Given the description of an element on the screen output the (x, y) to click on. 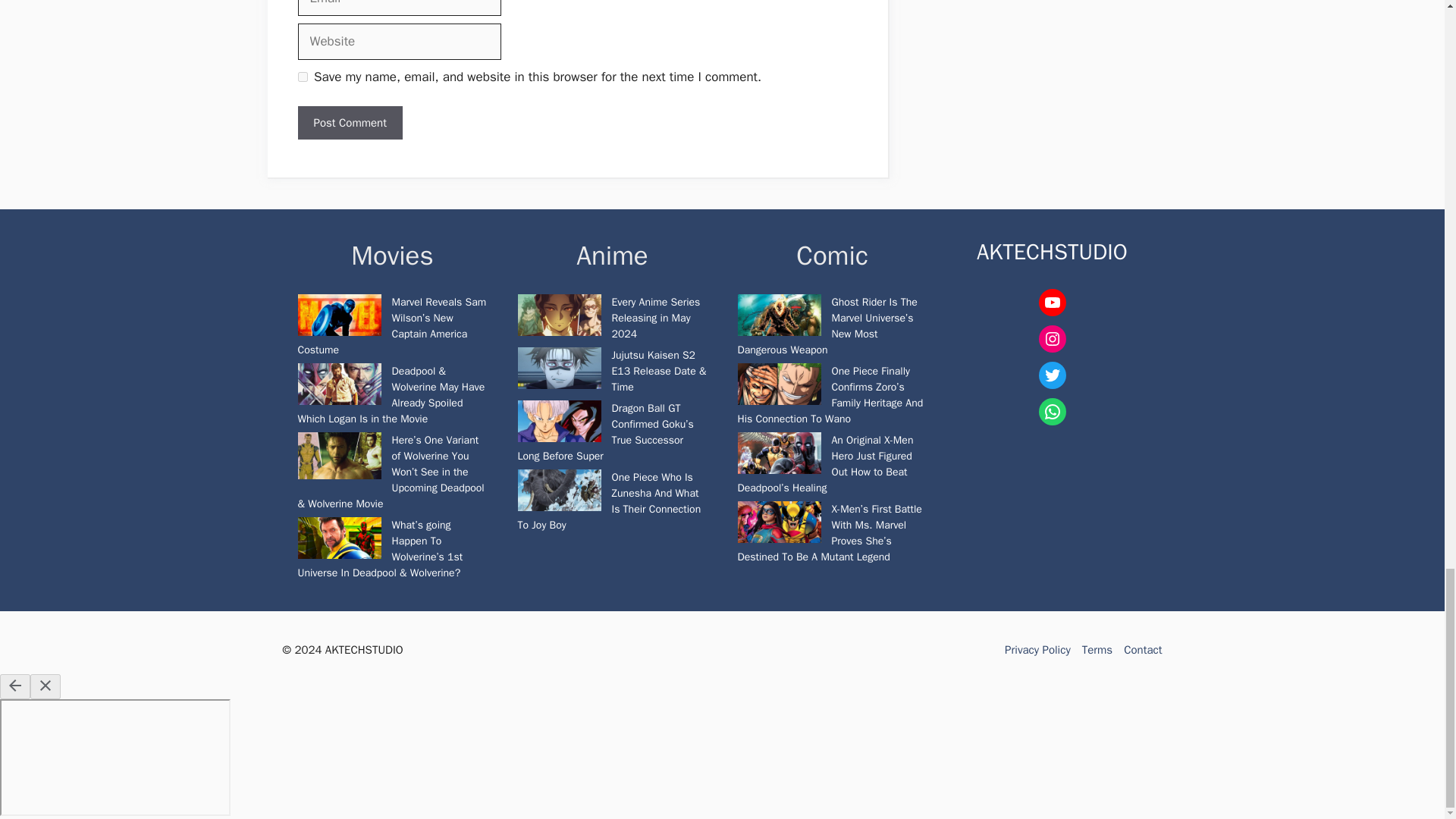
Post Comment (349, 123)
yes (302, 76)
Post Comment (349, 123)
